Given the description of an element on the screen output the (x, y) to click on. 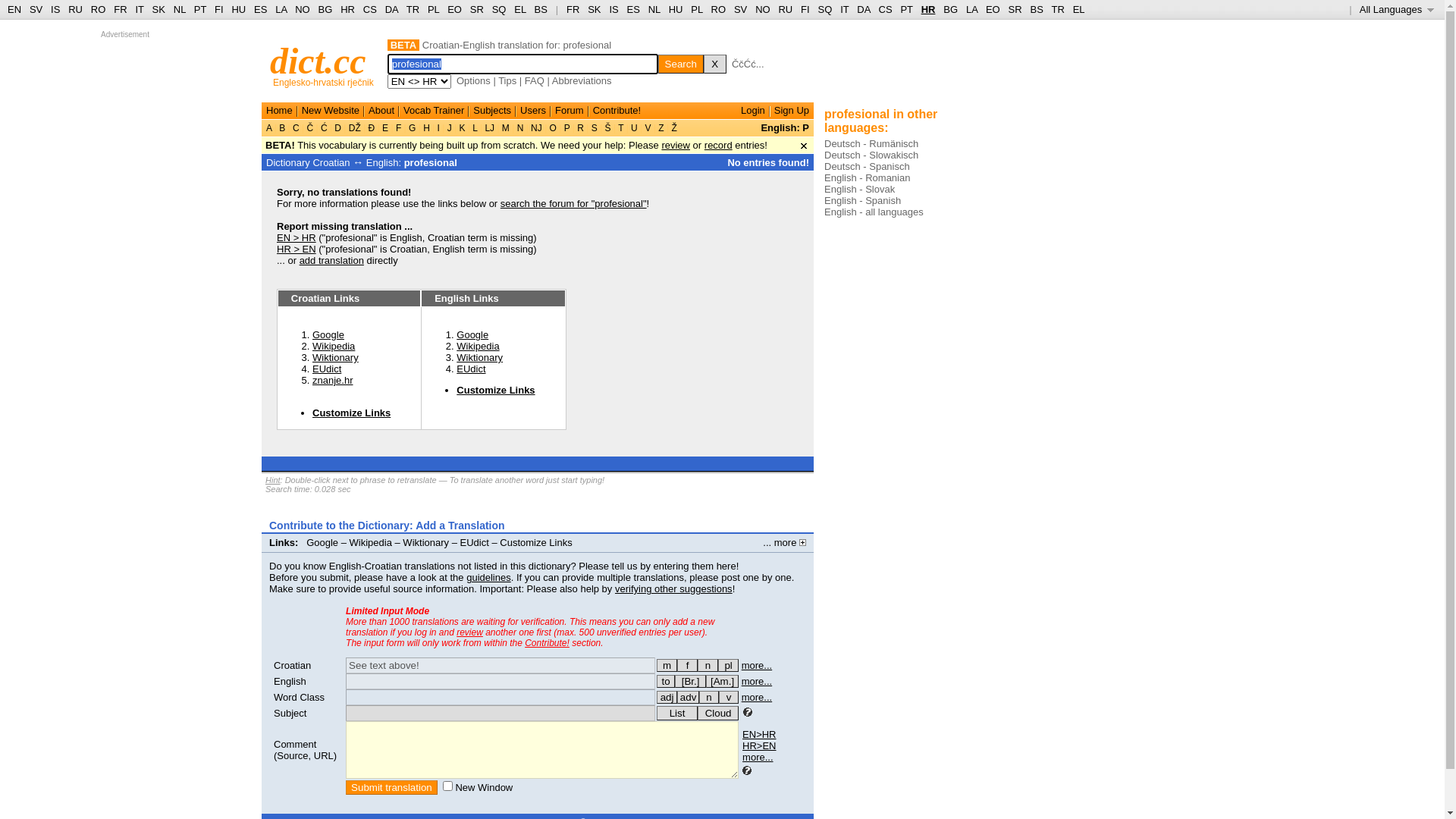
IS Element type: text (54, 9)
Options Element type: text (473, 80)
more... Element type: text (757, 756)
Contribute! Element type: text (546, 642)
Google Element type: text (322, 542)
DA Element type: text (391, 9)
IT Element type: text (844, 9)
B Element type: text (282, 127)
RO Element type: text (98, 9)
EUdict Element type: text (326, 368)
record Element type: text (718, 144)
adv Element type: text (688, 696)
srednji rod Element type: hover (707, 664)
O Element type: text (552, 127)
EUdict Element type: text (470, 368)
... more Element type: text (784, 542)
ES Element type: text (260, 9)
SR Element type: text (1015, 9)
more... Element type: text (756, 681)
Forum Element type: text (569, 110)
LJ Element type: text (489, 127)
EN Element type: text (14, 9)
review Element type: text (469, 632)
SV Element type: text (35, 9)
BS Element type: text (540, 9)
Sign Up Element type: text (791, 110)
L Element type: text (475, 127)
NJ Element type: text (536, 127)
M Element type: text (505, 127)
D Element type: text (337, 127)
DA Element type: text (862, 9)
n Element type: text (707, 664)
Deutsch - Slowakisch Element type: text (871, 154)
PT Element type: text (906, 9)
Login Element type: text (752, 110)
Deutsch - Spanisch Element type: text (867, 166)
SK Element type: text (593, 9)
Google Element type: text (328, 334)
Users Element type: text (533, 110)
Contribute to the Dictionary: Add a Translation Element type: text (387, 525)
BG Element type: text (325, 9)
J Element type: text (449, 127)
Home Element type: text (279, 110)
BG Element type: text (950, 9)
PT Element type: text (200, 9)
U Element type: text (634, 127)
Wiktionary Element type: text (335, 357)
New Website Element type: text (330, 110)
HU Element type: text (675, 9)
dict.cc Element type: text (317, 60)
Hint Element type: text (272, 479)
guidelines Element type: text (488, 577)
English - all languages Element type: text (873, 211)
FI Element type: text (218, 9)
Wiktionary Element type: text (425, 542)
N Element type: text (519, 127)
Wikipedia Element type: text (477, 345)
I Element type: text (438, 127)
R Element type: text (580, 127)
SK Element type: text (158, 9)
LA Element type: text (280, 9)
HR > EN Element type: text (296, 248)
search the forum for "profesional" Element type: text (573, 203)
HR>EN Element type: text (758, 745)
profesional Element type: text (430, 162)
Search Element type: text (680, 63)
add translation Element type: text (331, 260)
Google Element type: text (472, 334)
T Element type: text (620, 127)
Dictionary Element type: text (288, 162)
FAQ Element type: text (534, 80)
EO Element type: text (992, 9)
X Element type: text (714, 63)
more... Element type: text (756, 696)
RU Element type: text (785, 9)
E Element type: text (385, 127)
BS Element type: text (1035, 9)
EN>HR Element type: text (758, 734)
Vocab Trainer Element type: text (433, 110)
LA Element type: text (971, 9)
EL Element type: text (1079, 9)
TR Element type: text (412, 9)
[Am.] Element type: text (722, 680)
EO Element type: text (454, 9)
n Element type: text (708, 696)
EUdict Element type: text (474, 542)
Wikipedia Element type: text (333, 345)
HR Element type: text (928, 9)
for verbs Element type: hover (665, 680)
Submit translation Element type: text (391, 787)
K Element type: text (461, 127)
Customize Links Element type: text (495, 389)
Customize Links Element type: text (535, 542)
Wiktionary Element type: text (479, 357)
(esp.) British English Element type: hover (690, 680)
SQ Element type: text (824, 9)
IT Element type: text (138, 9)
FI Element type: text (804, 9)
Z Element type: text (660, 127)
CS Element type: text (369, 9)
ES Element type: text (633, 9)
English - Spanish Element type: text (862, 200)
EL Element type: text (519, 9)
Abbreviations Element type: text (581, 80)
CS Element type: text (884, 9)
HR Element type: text (347, 9)
v Element type: text (728, 696)
NL Element type: text (654, 9)
S Element type: text (593, 127)
SR Element type: text (476, 9)
more... Element type: text (756, 665)
English: P Element type: text (784, 127)
pl Element type: text (728, 664)
Wikipedia Element type: text (370, 542)
NL Element type: text (179, 9)
TR Element type: text (1057, 9)
znanje.hr Element type: text (332, 379)
List Element type: text (676, 713)
PL Element type: text (696, 9)
PL Element type: text (433, 9)
verifying other suggestions Element type: text (673, 588)
EN > HR Element type: text (296, 237)
About Element type: text (381, 110)
FR Element type: text (119, 9)
to Element type: text (665, 680)
adj Element type: text (666, 696)
[Br.] Element type: text (690, 680)
Contribute! Element type: text (617, 110)
H Element type: text (426, 127)
RO Element type: text (718, 9)
Customize Links Element type: text (351, 412)
C Element type: text (295, 127)
f Element type: text (687, 664)
English - Slovak Element type: text (859, 188)
SV Element type: text (740, 9)
HU Element type: text (238, 9)
Croatian Element type: text (291, 665)
Subjects Element type: text (492, 110)
SQ Element type: text (499, 9)
NO Element type: text (302, 9)
F Element type: text (398, 127)
P Element type: text (566, 127)
RU Element type: text (75, 9)
review Element type: text (675, 144)
FR Element type: text (572, 9)
V Element type: text (647, 127)
Cloud Element type: text (717, 713)
English Element type: text (289, 681)
A Element type: text (270, 127)
NO Element type: text (762, 9)
IS Element type: text (613, 9)
Tips Element type: text (507, 80)
m Element type: text (666, 664)
G Element type: text (412, 127)
All Languages  Element type: text (1396, 9)
(esp.) American English Element type: hover (722, 680)
English - Romanian Element type: text (867, 177)
